Given the description of an element on the screen output the (x, y) to click on. 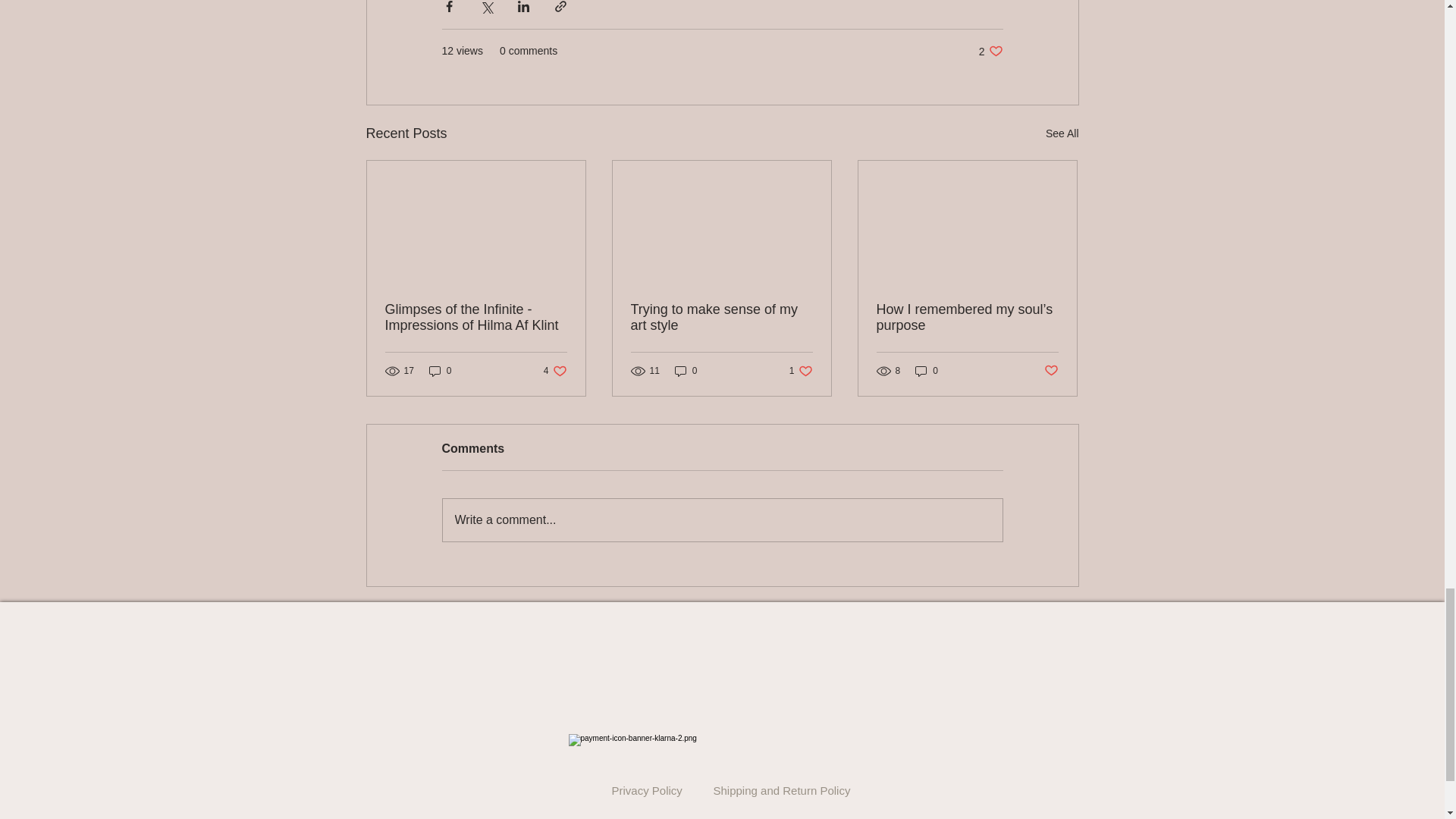
Glimpses of the Infinite - Impressions of Hilma Af Klint (476, 317)
0 (800, 370)
0 (440, 370)
See All (990, 51)
Trying to make sense of my art style (555, 370)
